Given the description of an element on the screen output the (x, y) to click on. 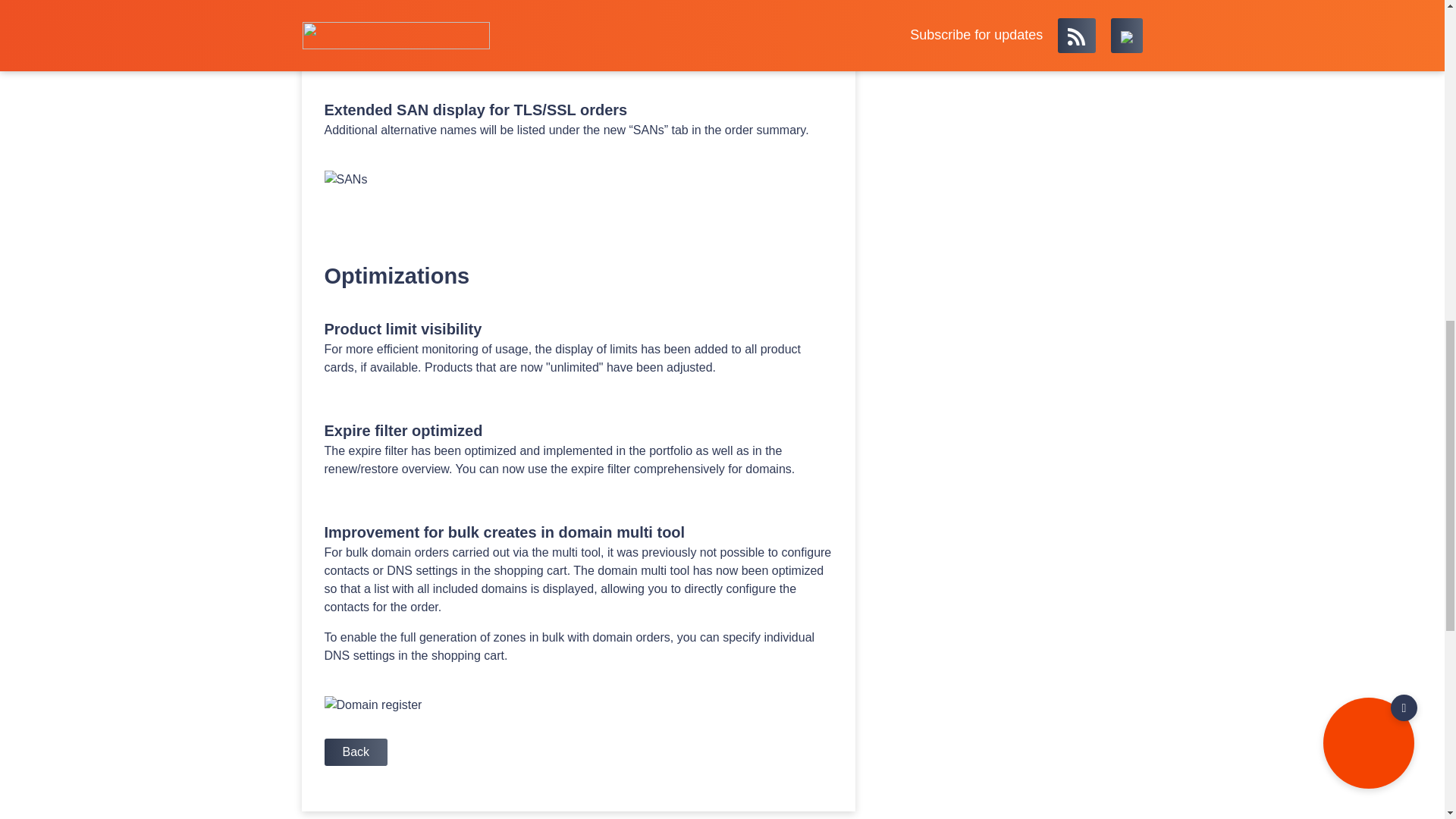
Back (356, 751)
